Given the description of an element on the screen output the (x, y) to click on. 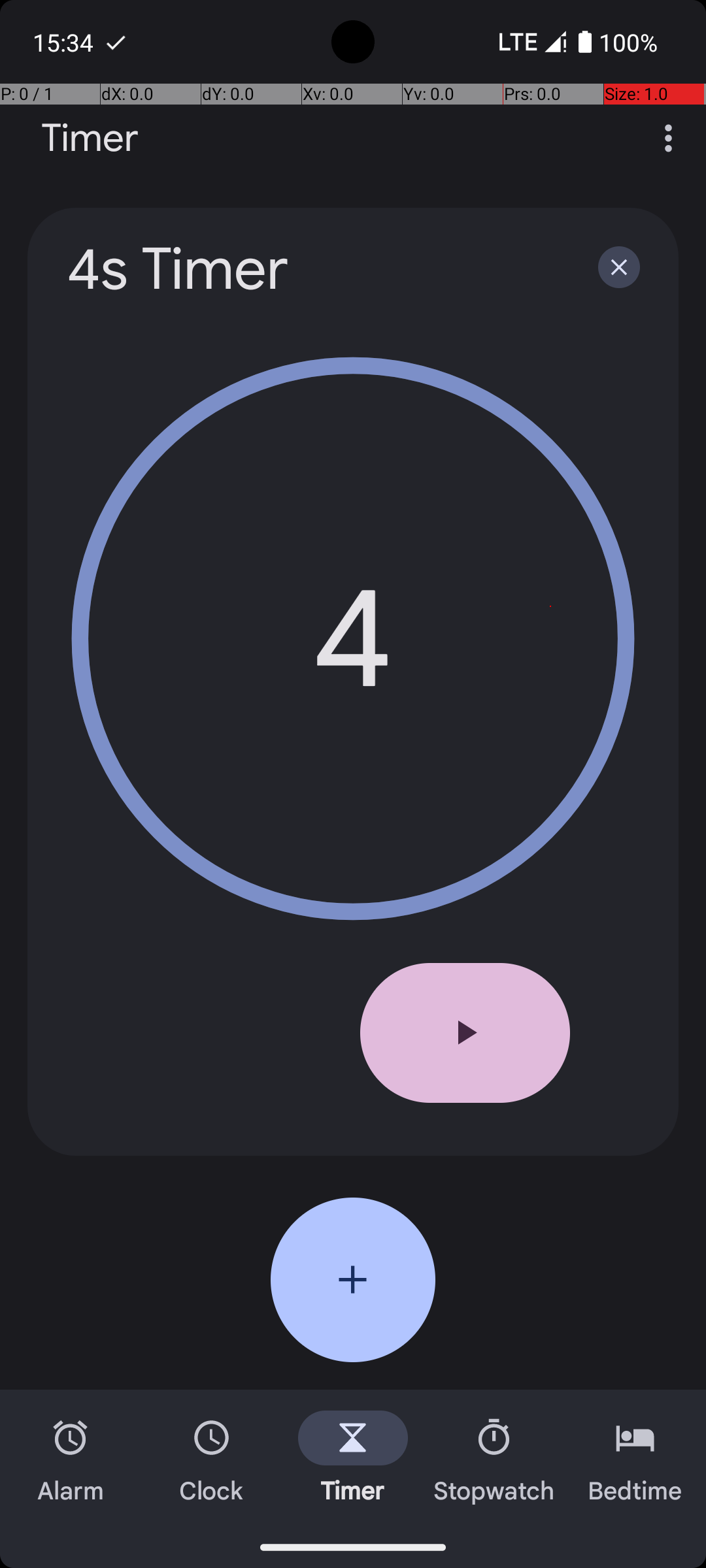
Add timer Element type: android.widget.Button (352, 1279)
4s Timer Element type: android.widget.TextView (315, 269)
